Given the description of an element on the screen output the (x, y) to click on. 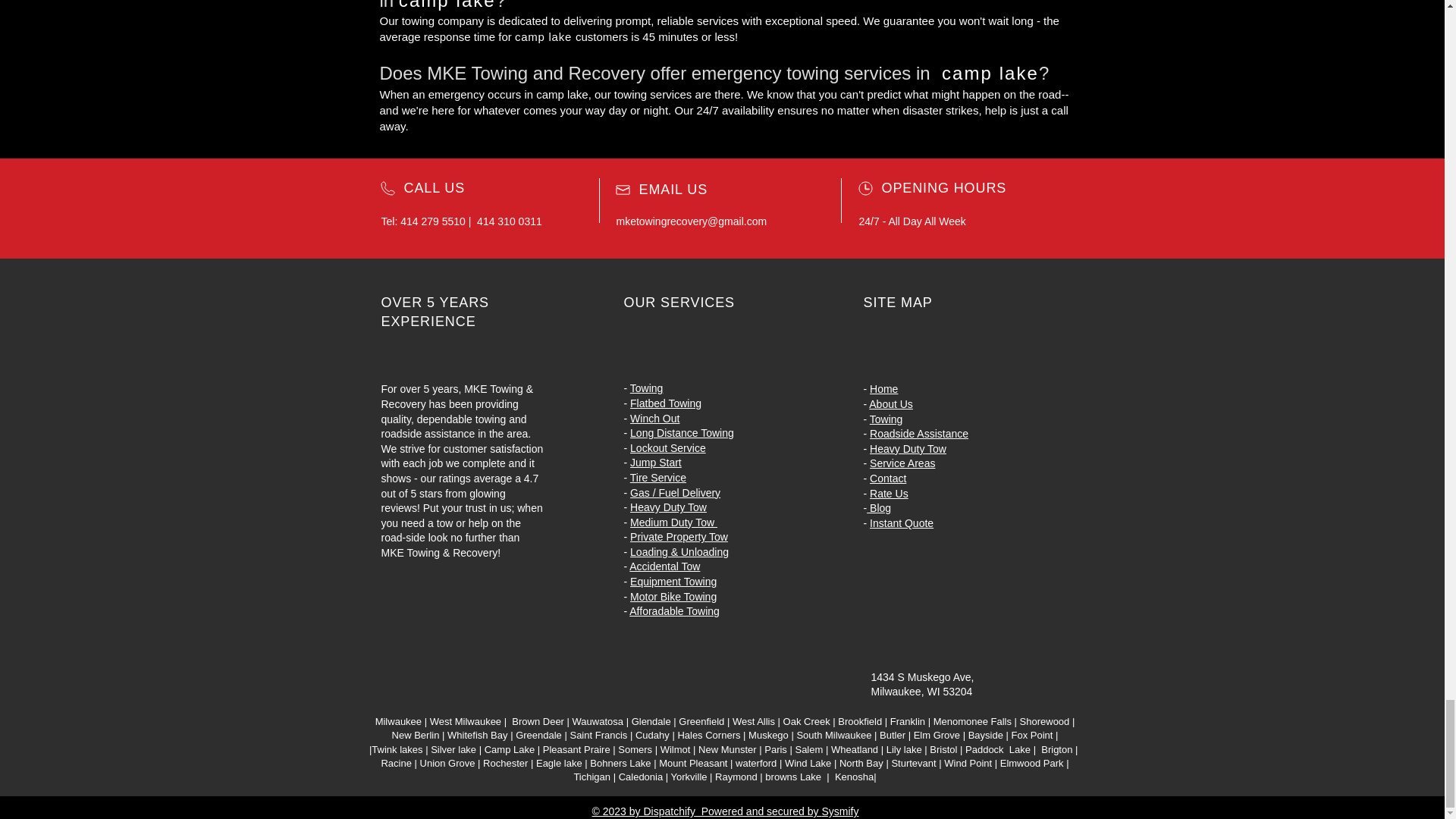
camp lake (543, 36)
Winch Out (654, 418)
Towing (646, 387)
Flatbed Towing (665, 403)
